Given the description of an element on the screen output the (x, y) to click on. 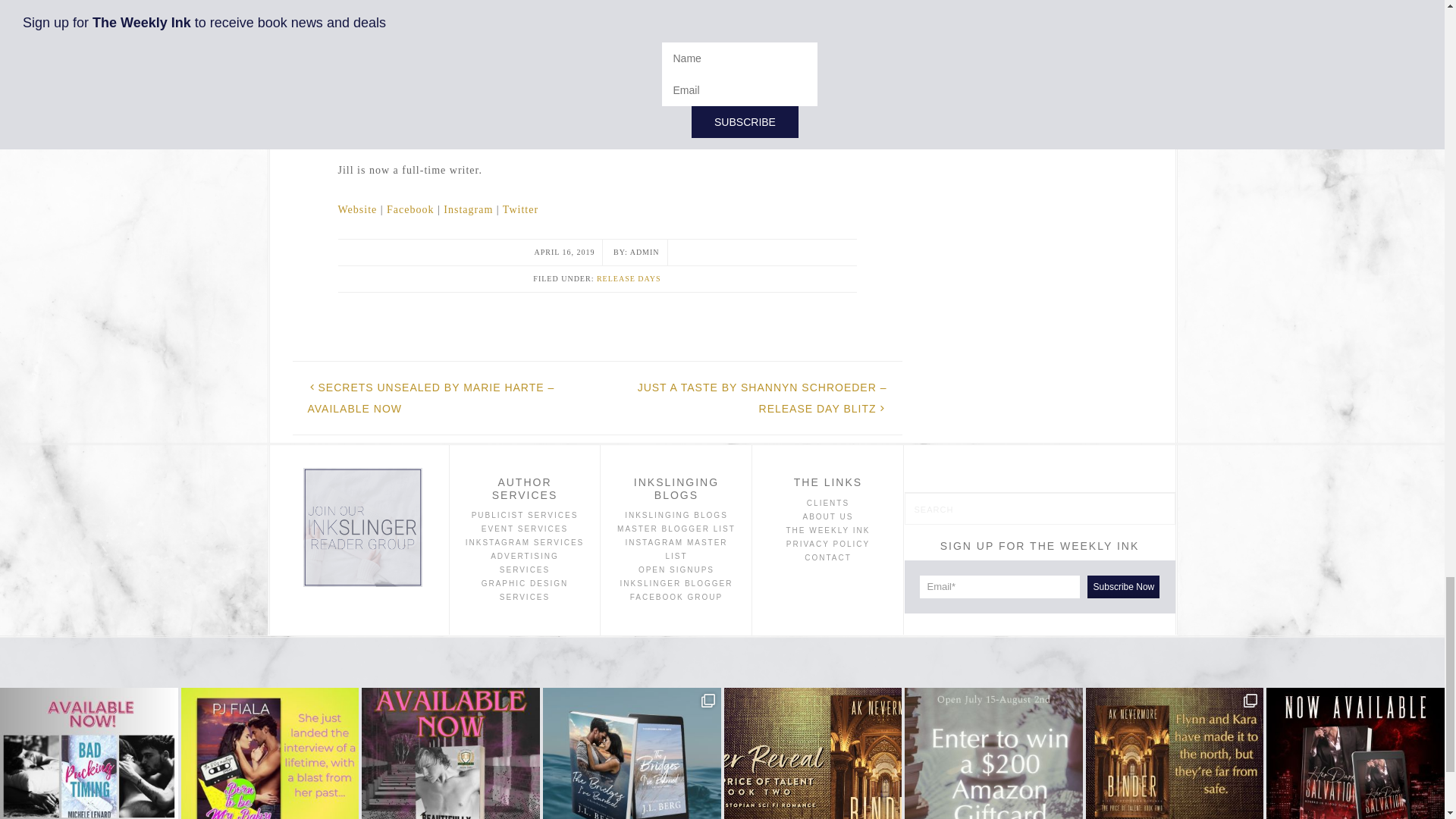
Instagram (468, 209)
PUBLICIST SERVICES (524, 515)
RELEASE DAYS (628, 278)
Twitter (520, 209)
Website (357, 209)
Facebook (410, 209)
